Given the description of an element on the screen output the (x, y) to click on. 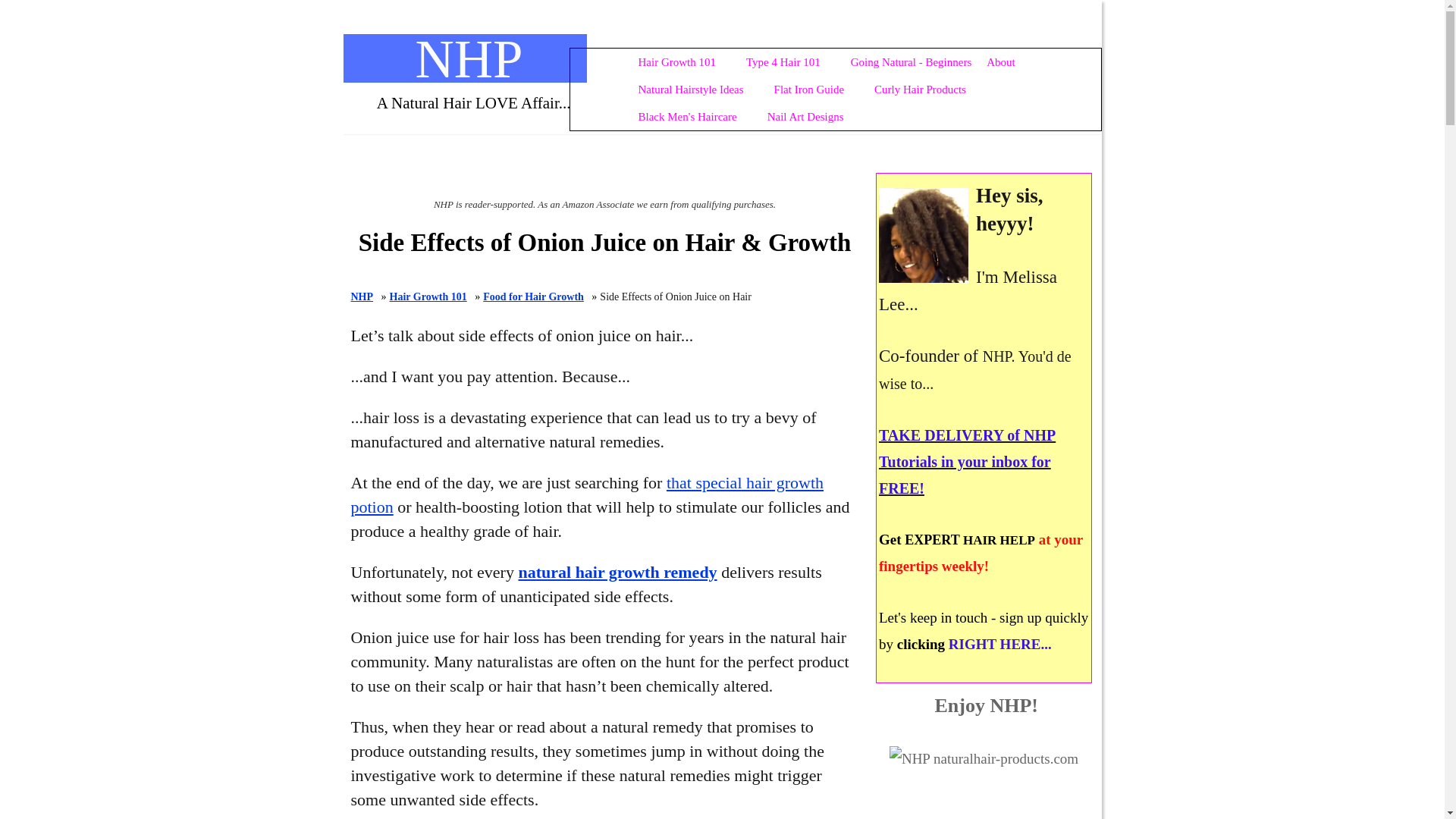
Flat Iron Guide (808, 89)
About (861, 62)
NHP (468, 58)
TAKE DELIVERY of NHP Tutorials in your inbox for FREE! (967, 460)
Curly Hair Products (920, 89)
Nail Art Designs (805, 116)
Hair Growth 101 (676, 62)
RIGHT HERE... (1000, 643)
Type 4 Hair 101 (782, 62)
that special hair growth potion (587, 494)
Food for Hair Growth (533, 296)
NHP (361, 296)
Natural Hairstyle Ideas (690, 89)
natural hair growth remedy (617, 571)
Going Natural - Beginners (911, 62)
